Given the description of an element on the screen output the (x, y) to click on. 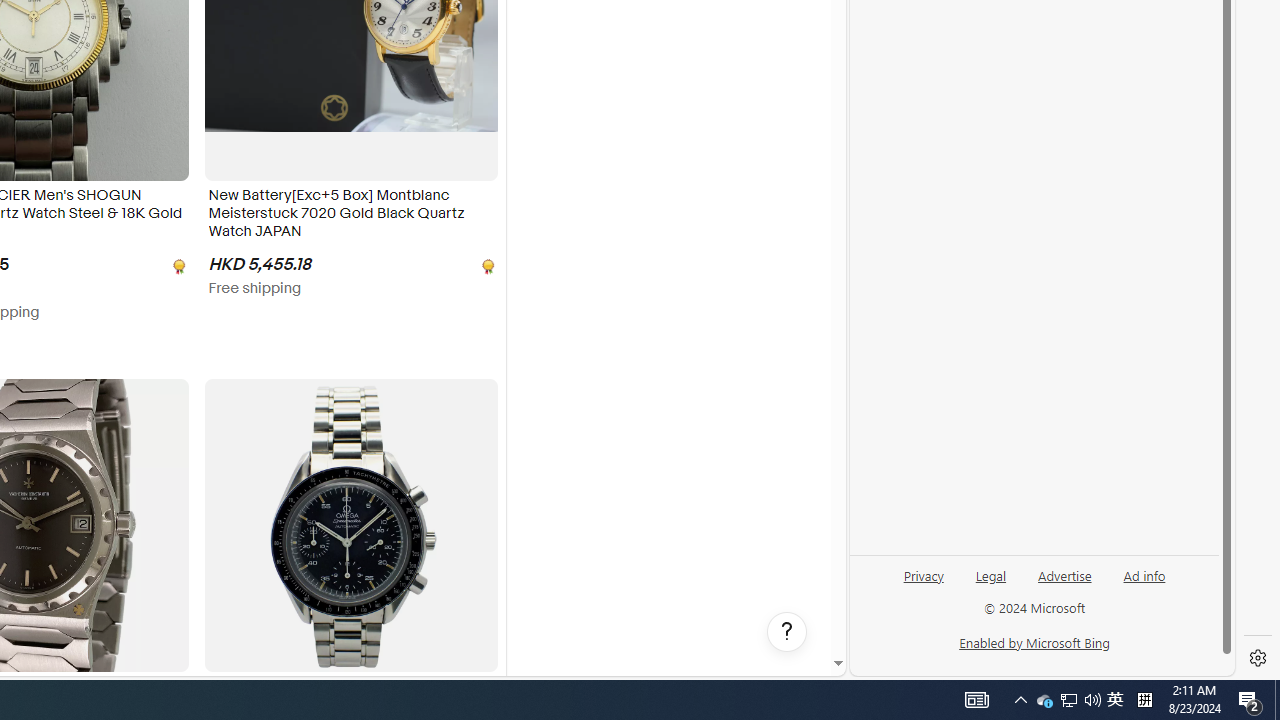
Help, opens dialogs (787, 632)
[object Undefined] (486, 264)
